Given the description of an element on the screen output the (x, y) to click on. 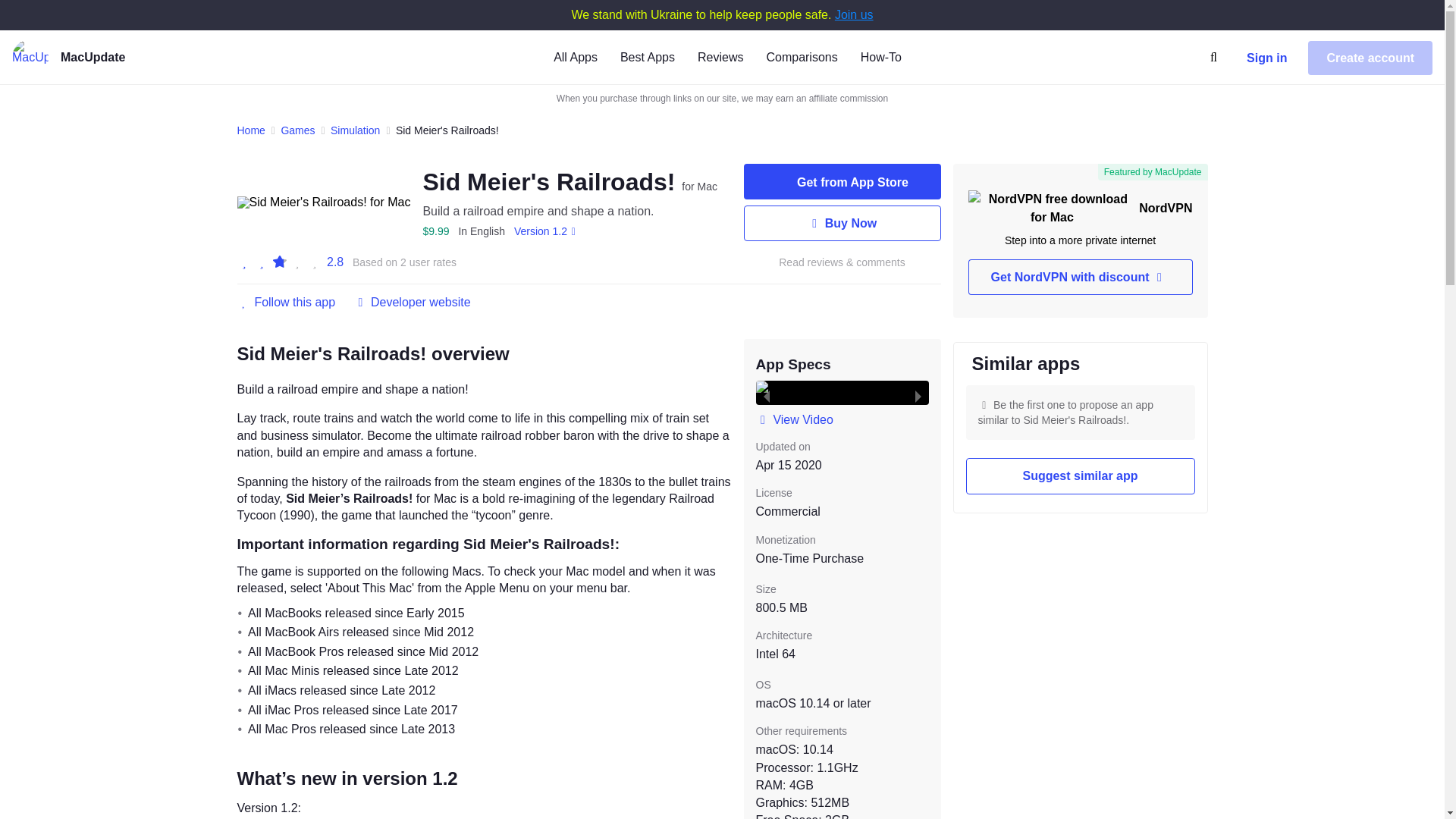
MacUpdate (116, 57)
Join us (853, 14)
1.2 (548, 231)
All Apps (574, 56)
